Given the description of an element on the screen output the (x, y) to click on. 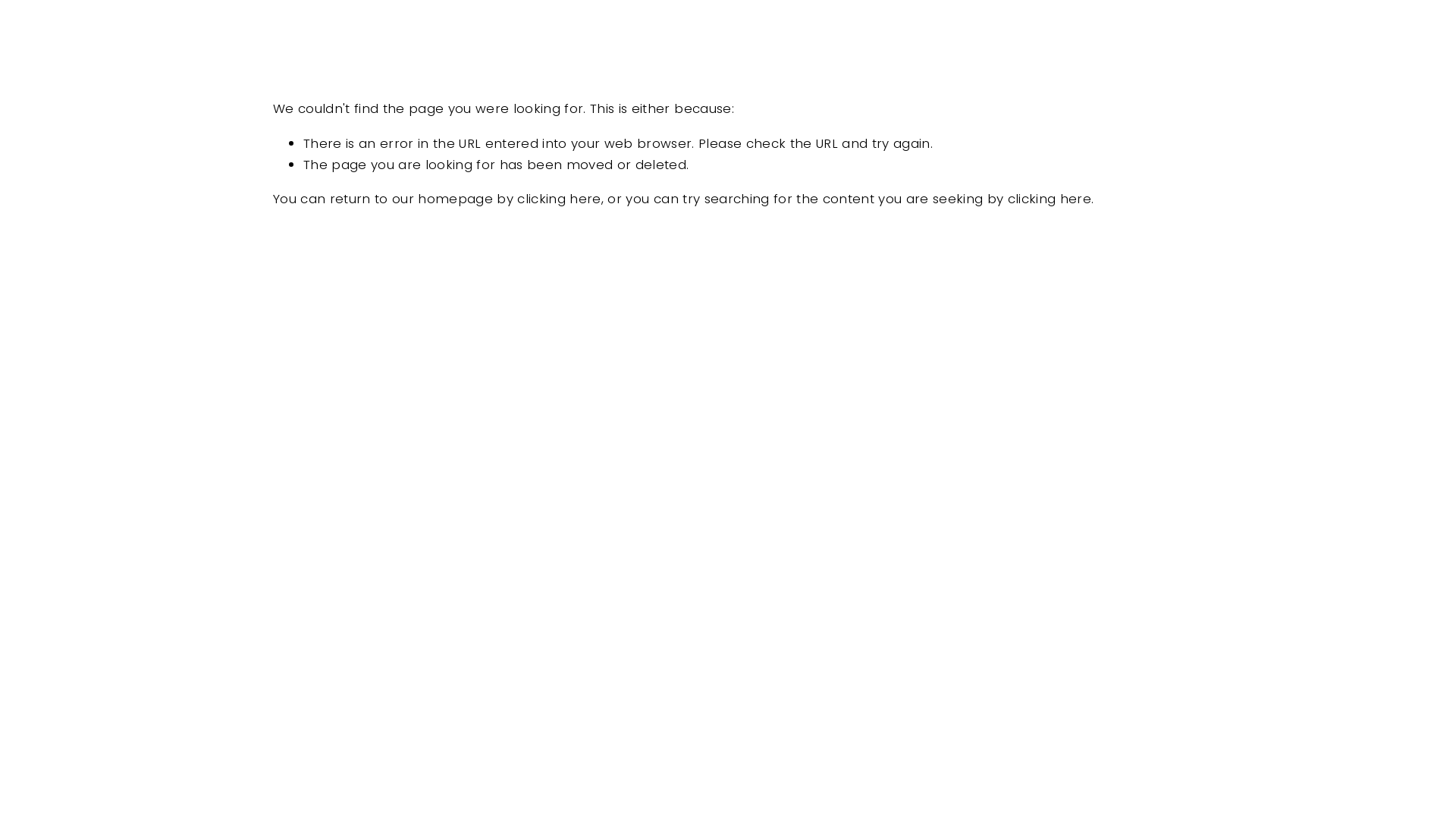
clicking here Element type: text (1049, 198)
clicking here Element type: text (558, 198)
